Given the description of an element on the screen output the (x, y) to click on. 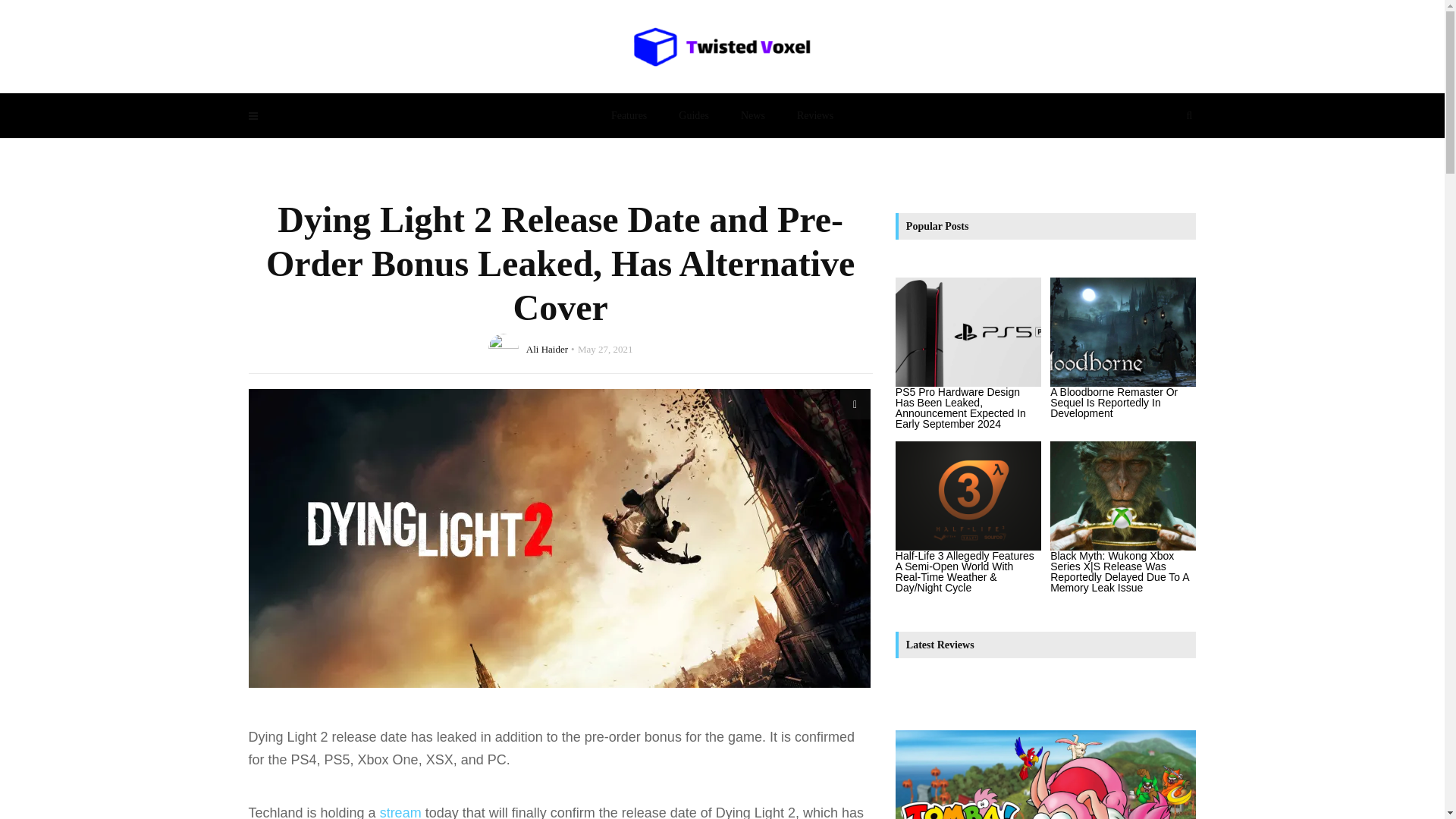
Ali Haider (546, 348)
Guides (693, 115)
Reviews (814, 115)
News (752, 115)
stream (401, 812)
Features (628, 115)
